Given the description of an element on the screen output the (x, y) to click on. 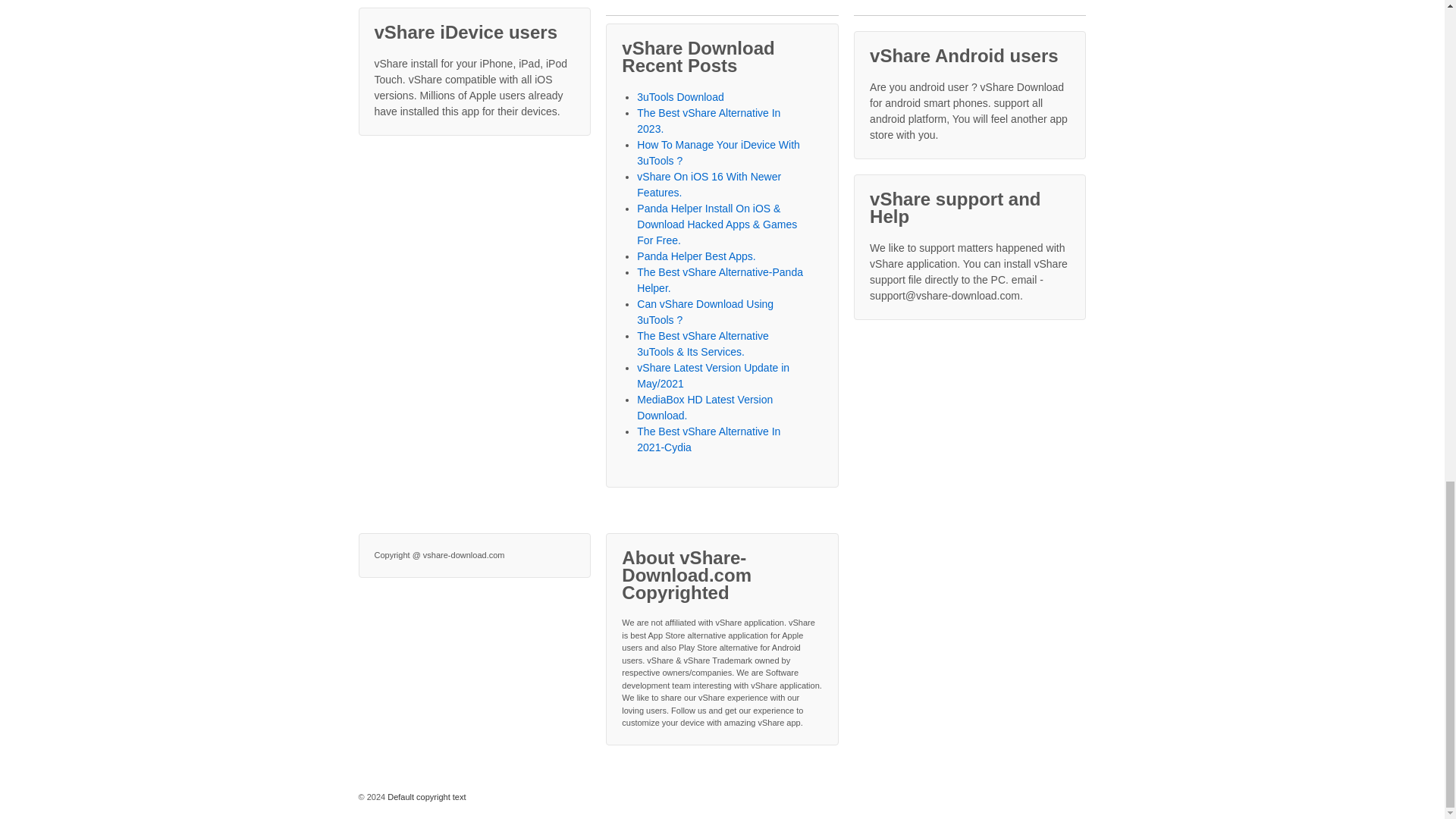
Default copyright text (425, 796)
vShare On iOS 16 With Newer Features. (708, 184)
The Best vShare Alternative In 2021-Cydia (708, 439)
How To Manage Your iDevice With 3uTools ? (718, 152)
3uTools Download (680, 96)
MediaBox HD Latest Version Download. (705, 407)
The Best vShare Alternative In 2023. (708, 121)
The Best vShare Alternative-Panda Helper. (720, 280)
Can vShare Download Using 3uTools ? (705, 311)
Panda Helper Best Apps. (696, 256)
vShare Download (425, 796)
